Given the description of an element on the screen output the (x, y) to click on. 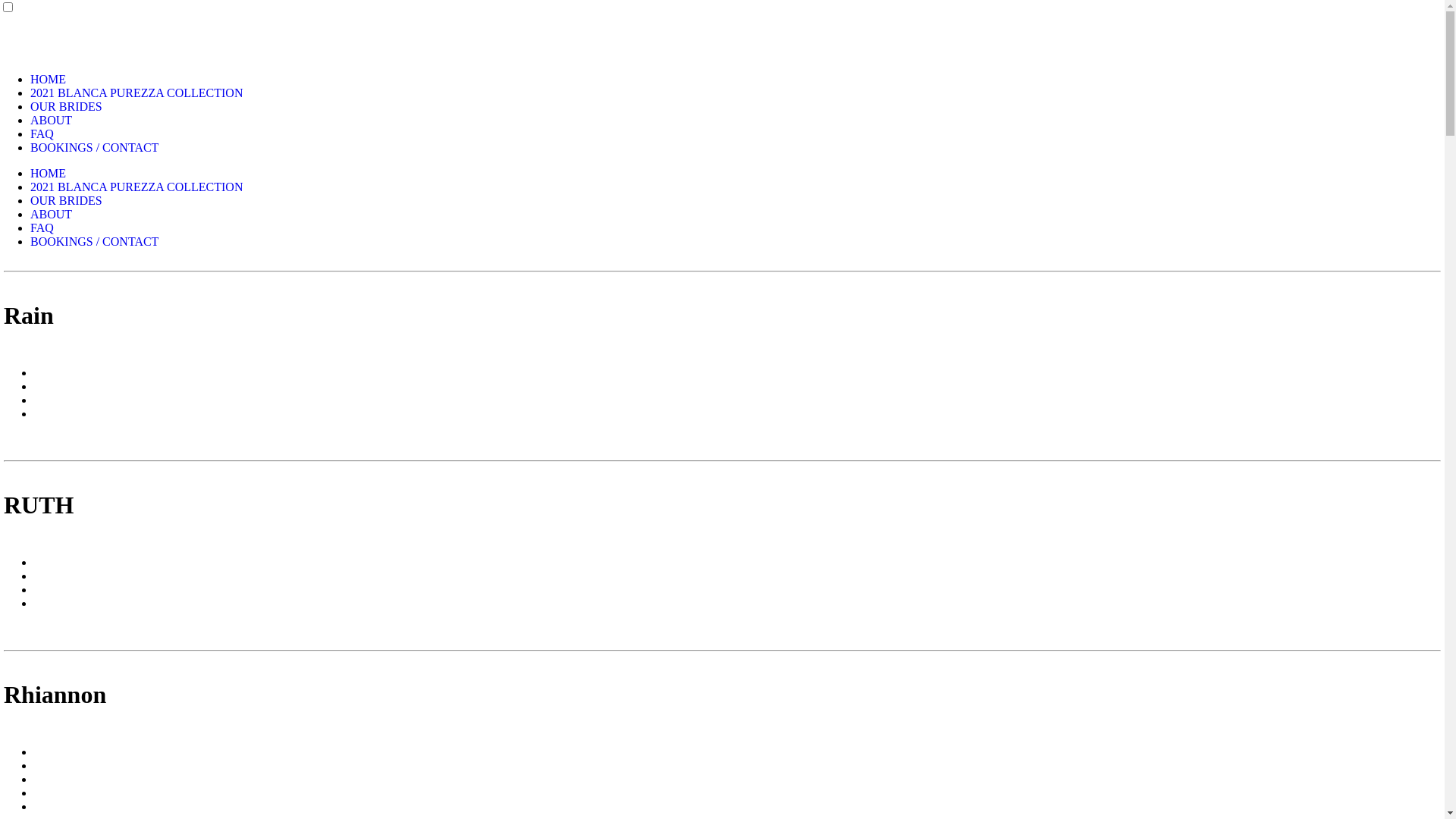
HOME Element type: text (47, 172)
FAQ Element type: text (41, 227)
2021 BLANCA PUREZZA COLLECTION Element type: text (136, 92)
OUR BRIDES Element type: text (66, 200)
BOOKINGS / CONTACT Element type: text (94, 147)
FAQ Element type: text (41, 133)
HOME Element type: text (47, 78)
ABOUT Element type: text (51, 213)
2021 BLANCA PUREZZA COLLECTION Element type: text (136, 186)
BOOKINGS / CONTACT Element type: text (94, 241)
OUR BRIDES Element type: text (66, 106)
ABOUT Element type: text (51, 119)
